Given the description of an element on the screen output the (x, y) to click on. 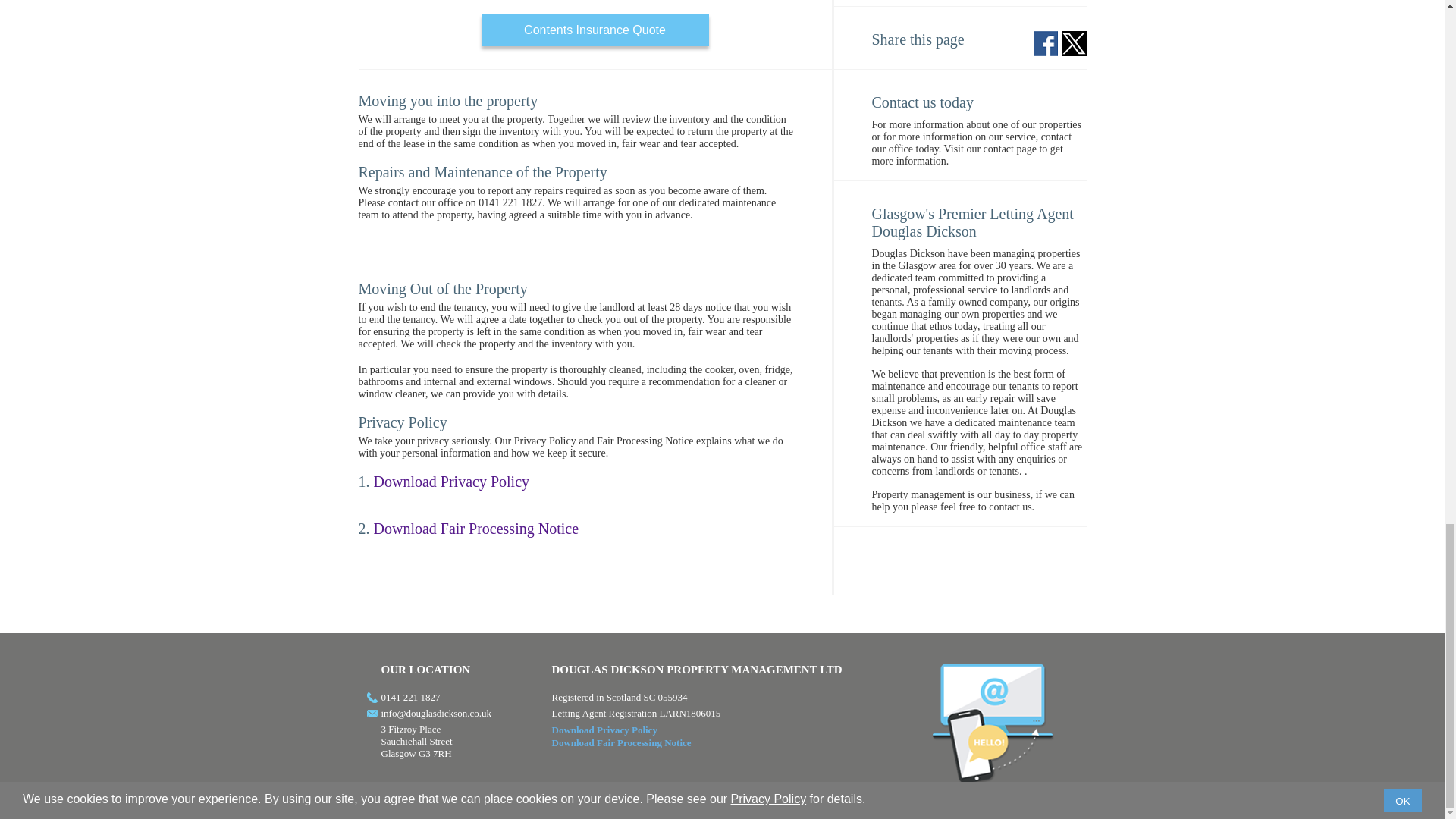
Download Privacy Policy (450, 481)
Download Privacy Policy (604, 729)
Download Fair Processing Notice (475, 528)
Download Fair Processing Notice (621, 742)
Contents Insurance Quote (593, 29)
